Given the description of an element on the screen output the (x, y) to click on. 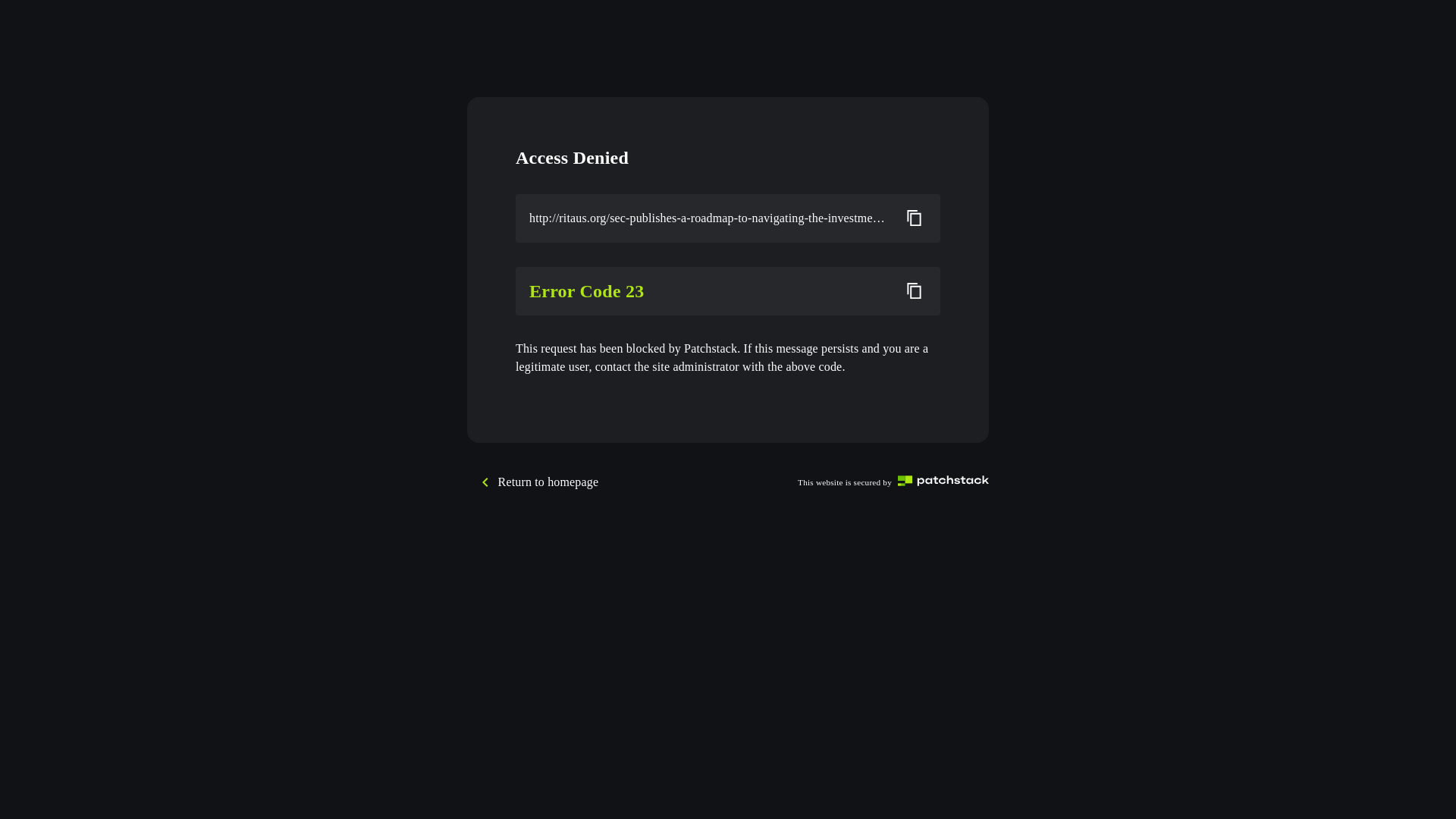
Error Code 23 (709, 290)
